Given the description of an element on the screen output the (x, y) to click on. 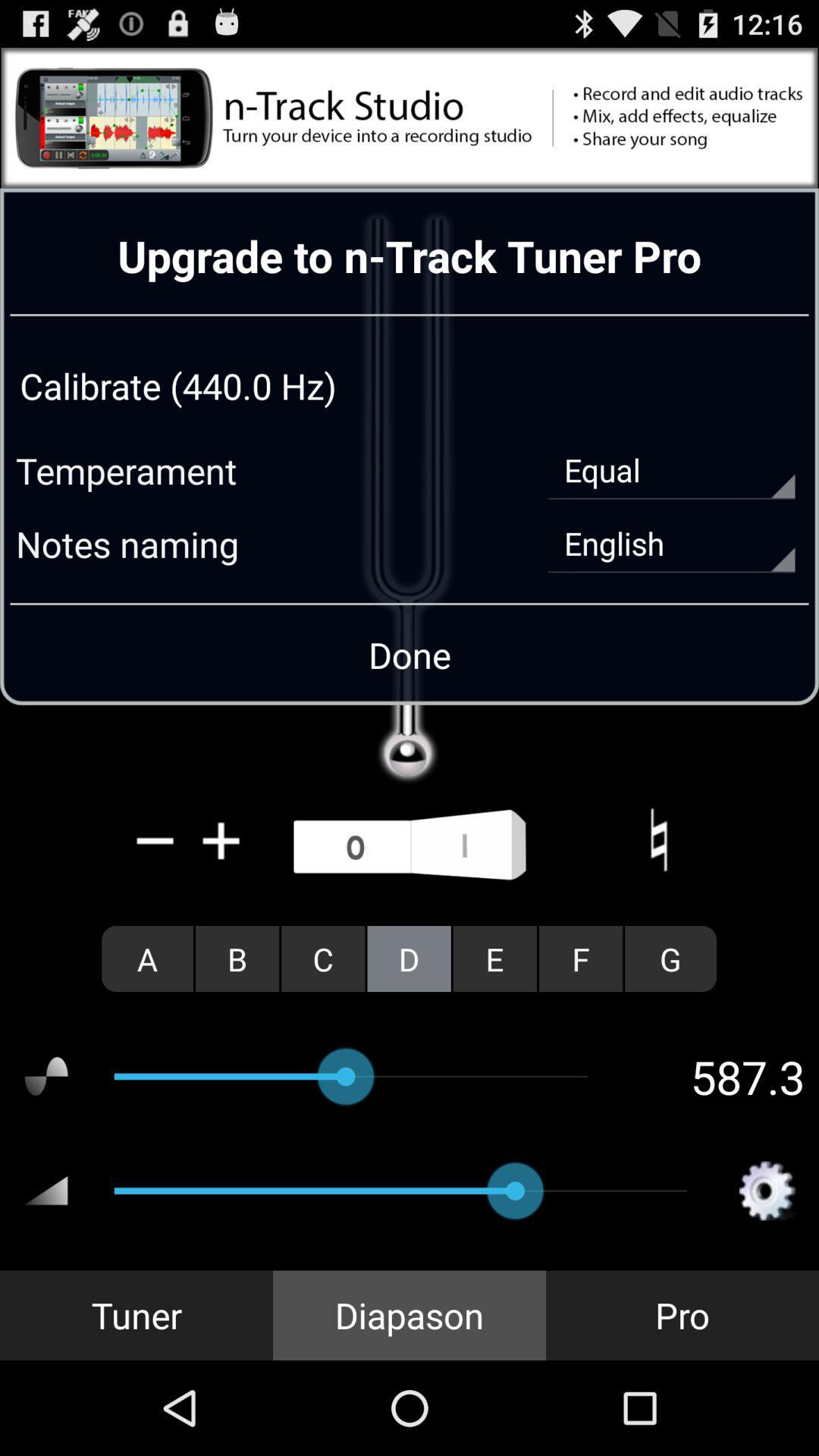
open the item to the right of b icon (323, 958)
